Given the description of an element on the screen output the (x, y) to click on. 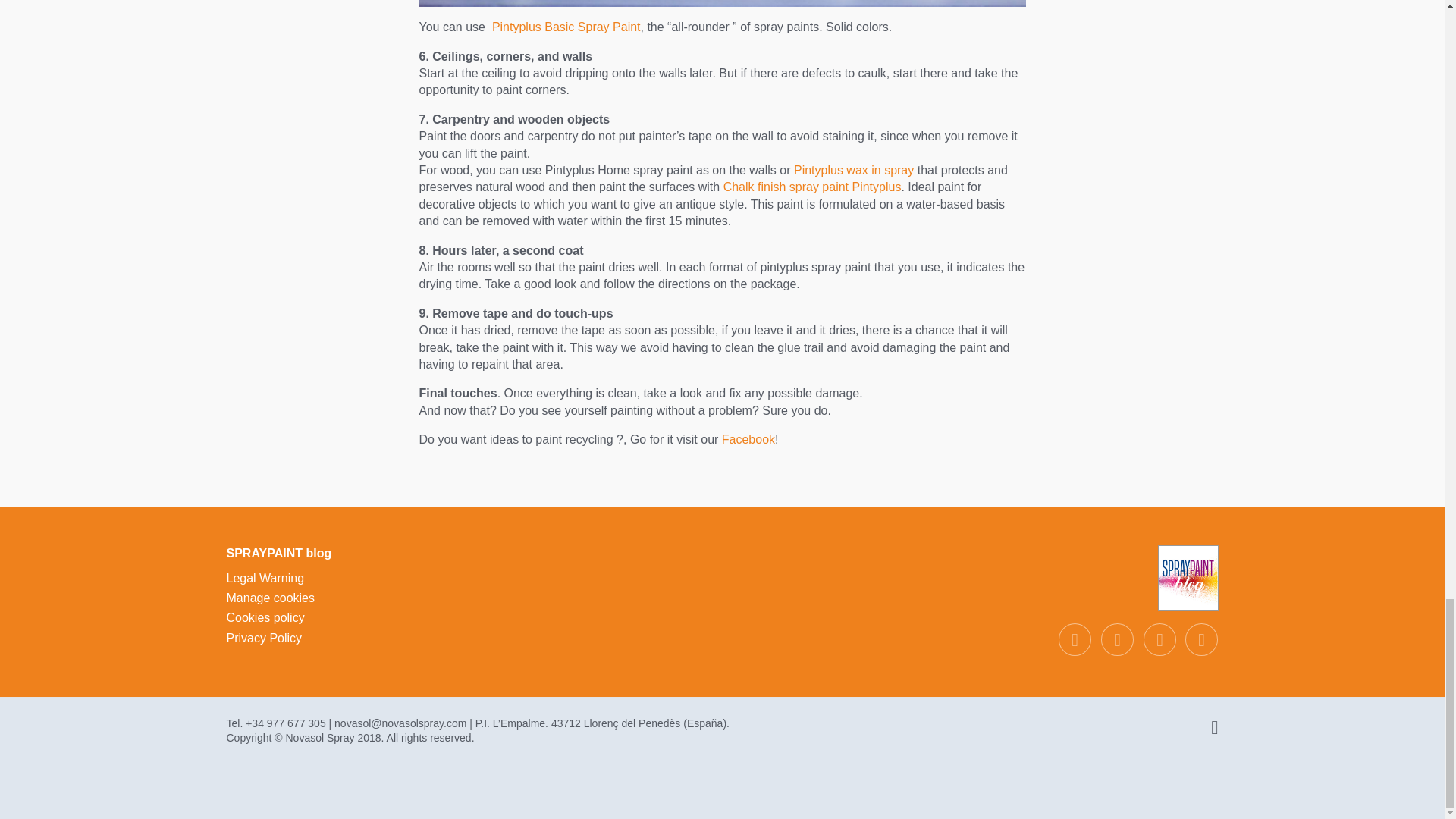
facebook (1074, 639)
Pintyplus wax in spray (853, 169)
Pintyplus Basic Spray Paint (566, 26)
Facebook (748, 439)
Cookies policy (264, 617)
Manage cookies (269, 597)
Legal Warning (264, 577)
Chalk finish spray paint Pintyplus (812, 186)
Privacy Policy (263, 637)
youtube (1201, 639)
